Given the description of an element on the screen output the (x, y) to click on. 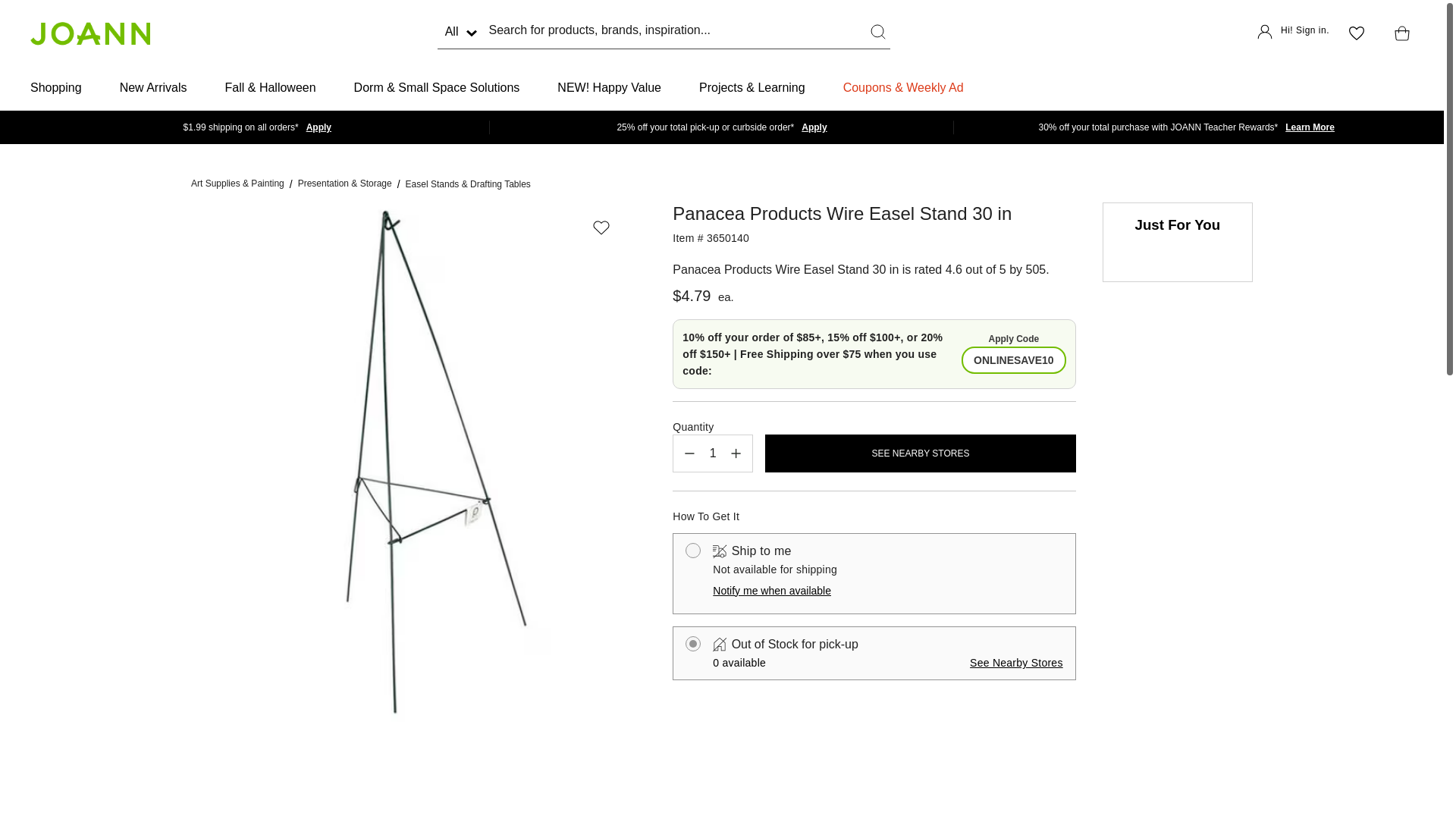
New Arrivals (153, 87)
1 (712, 452)
JO-ANN STORES, LLC Home (89, 33)
NEW! Happy Value (608, 87)
Hi! Sign in. (1293, 33)
Favorites (1356, 33)
View Cart (1398, 33)
Hi! Sign in. (1293, 33)
Shopping (55, 87)
